Given the description of an element on the screen output the (x, y) to click on. 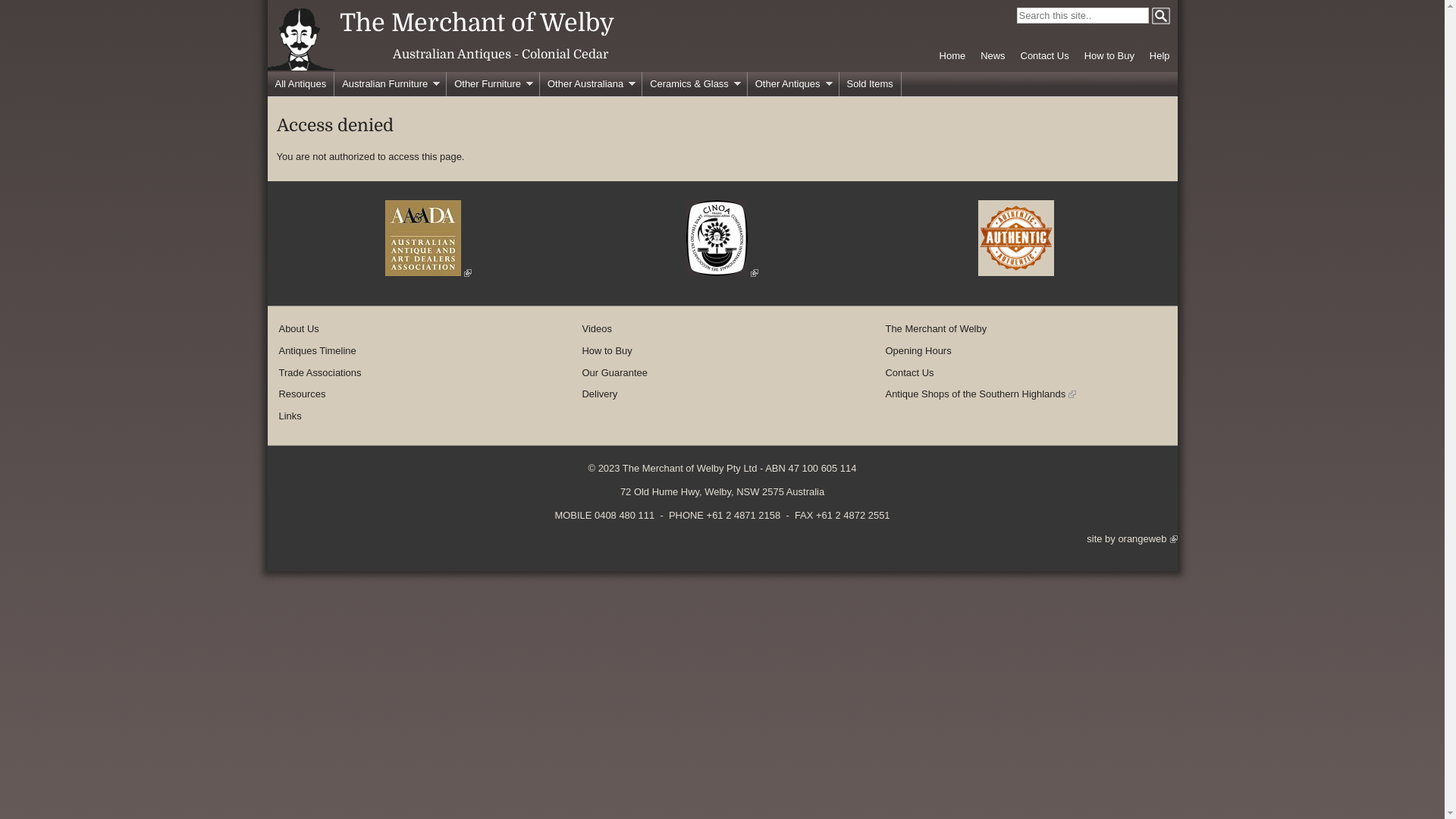
Delivery Element type: text (600, 393)
The Merchant of Welby Element type: text (936, 328)
Contact Us Element type: text (909, 372)
Resources Element type: text (302, 393)
(link is external) Element type: text (722, 272)
The Merchant of Welby Element type: text (476, 23)
Videos Element type: text (596, 328)
site by orangeweb
(link is external) Element type: text (1131, 538)
(link is external) Element type: text (428, 272)
About Us Element type: text (299, 328)
Our Guarantee Element type: text (614, 372)
Antique Shops of the Southern Highlands
(link is external) Element type: text (980, 393)
How to Buy Element type: text (607, 350)
Home page Element type: hover (300, 66)
How to Buy Element type: text (1109, 55)
Trade Associations Element type: text (320, 372)
Skip to main content Element type: text (707, 0)
Links Element type: text (290, 415)
News Element type: text (992, 55)
Antiques Timeline Element type: text (317, 350)
All Antiques Element type: text (300, 84)
Help Element type: text (1159, 55)
Contact Us Element type: text (1044, 55)
Enter the word(s) you wish to search for. Element type: hover (1082, 15)
Opening Hours Element type: text (918, 350)
Sold Items Element type: text (869, 84)
Home Element type: text (952, 55)
